Given the description of an element on the screen output the (x, y) to click on. 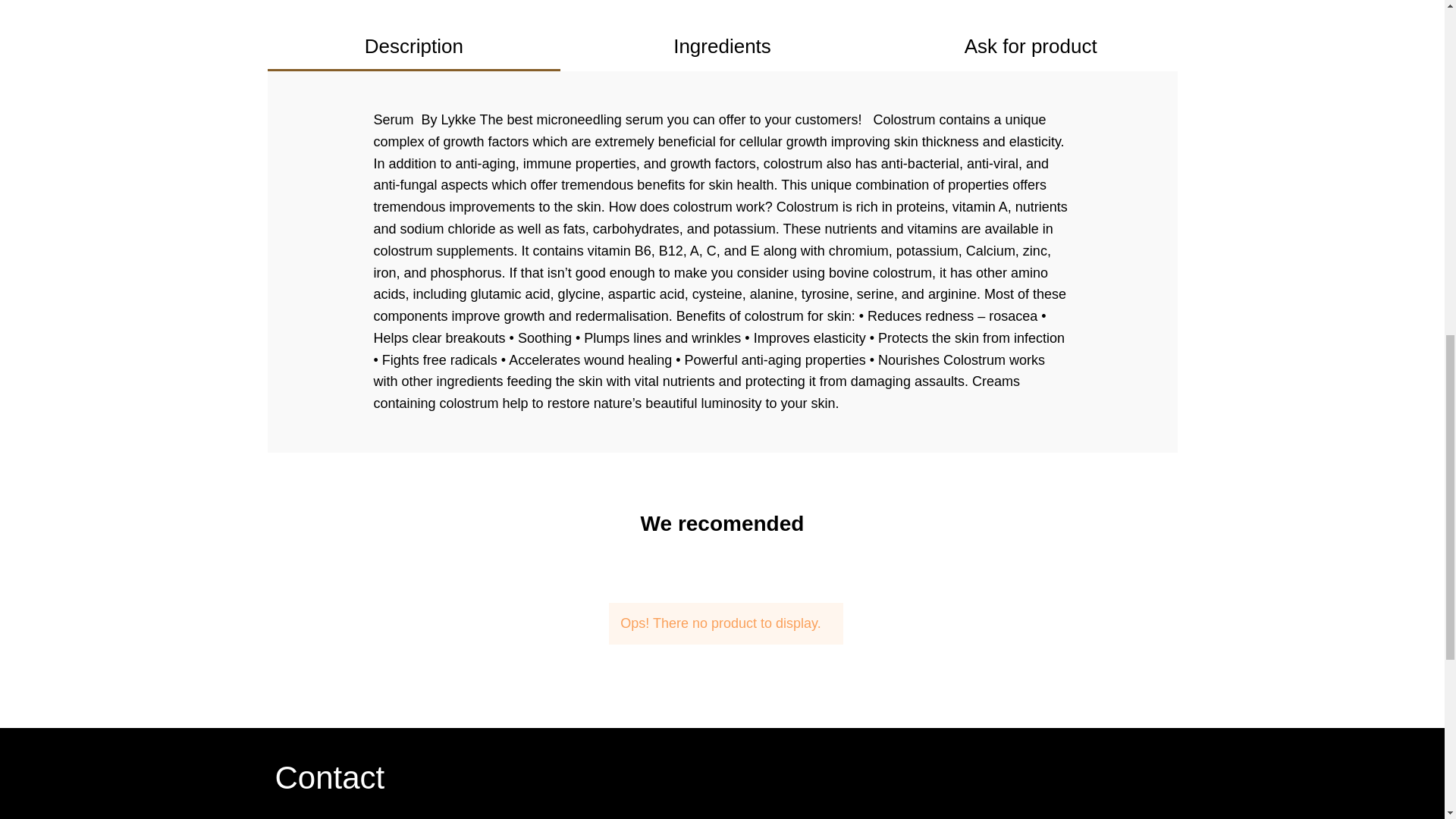
Ask for product (1030, 53)
Description (413, 53)
Ingredients (722, 53)
